Given the description of an element on the screen output the (x, y) to click on. 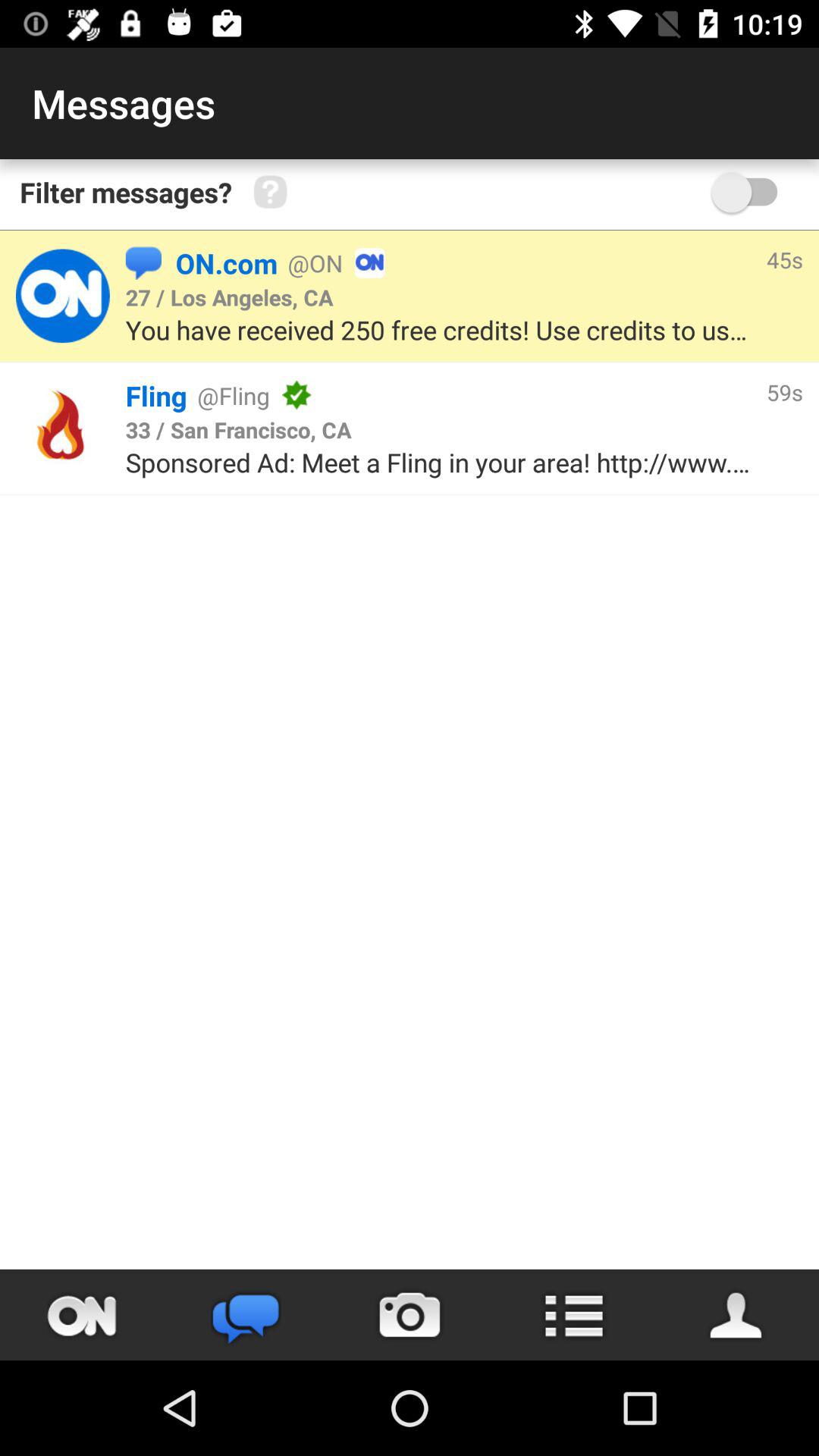
logo (62, 295)
